Given the description of an element on the screen output the (x, y) to click on. 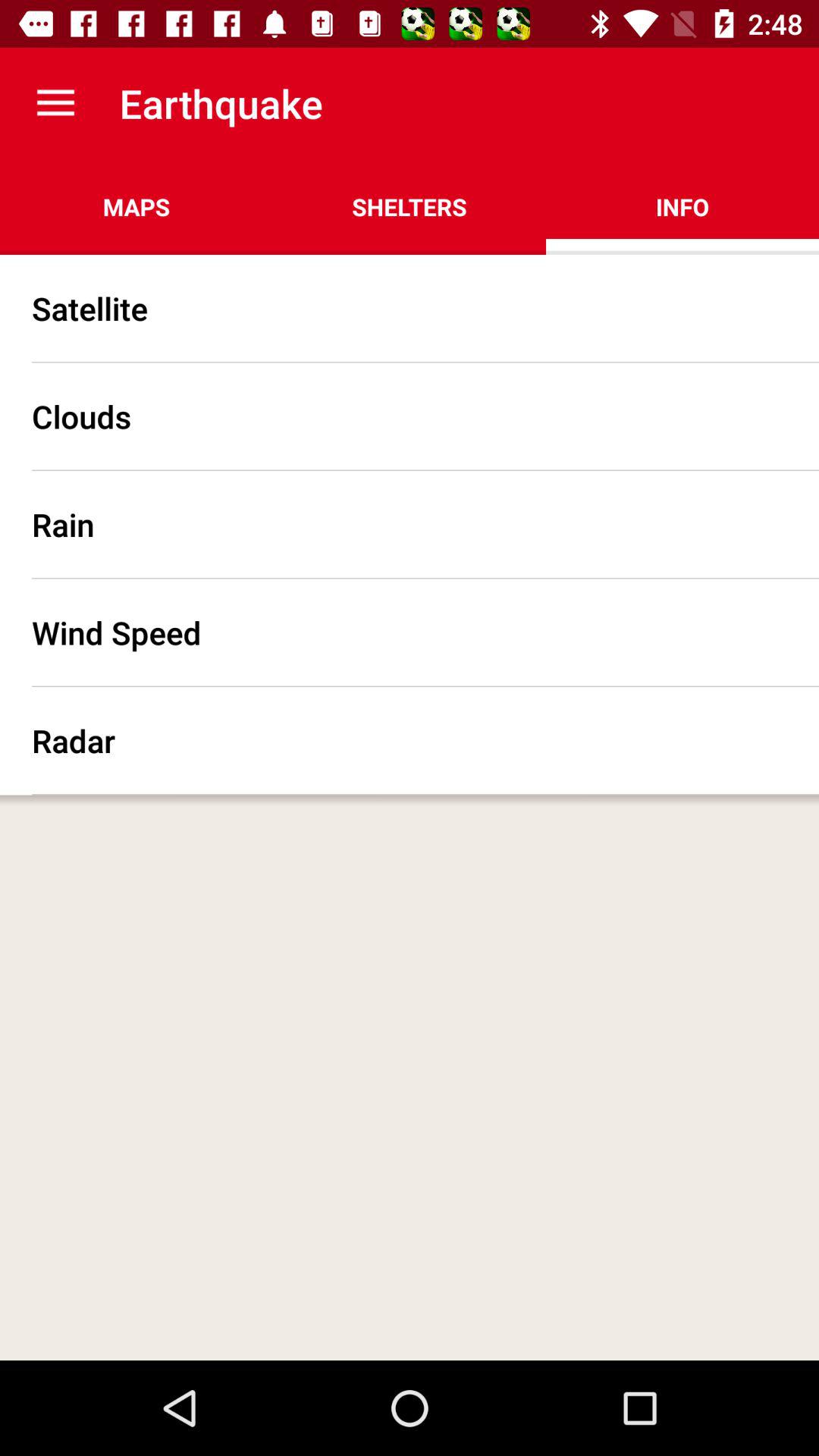
swipe to maps icon (136, 206)
